Given the description of an element on the screen output the (x, y) to click on. 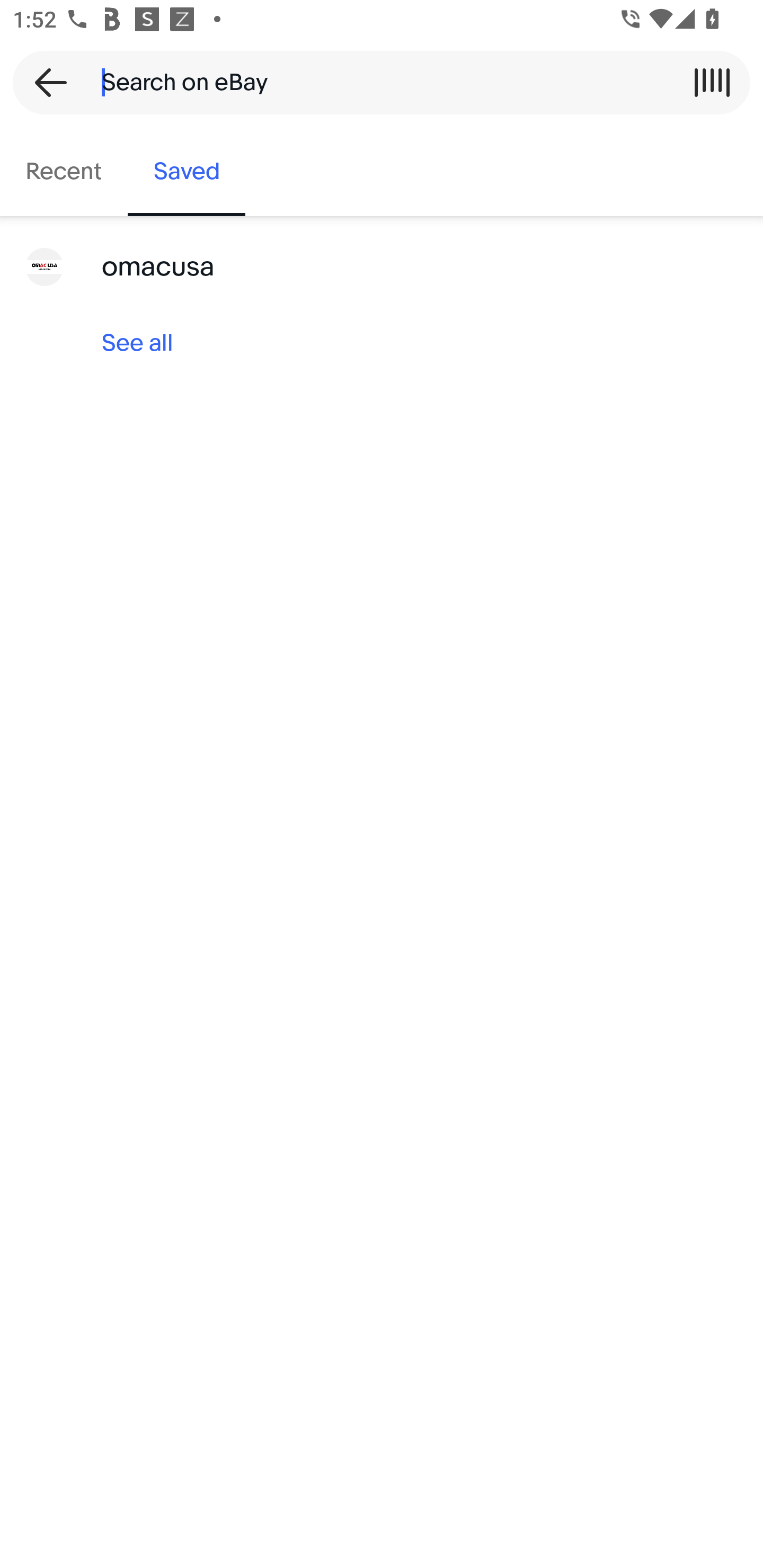
Back (44, 82)
Scan a barcode (711, 82)
Search on eBay (375, 82)
Recent, tab 1 of 2 Recent (63, 171)
User Search omacusa: omacusa (381, 266)
See all See all members (381, 343)
